Given the description of an element on the screen output the (x, y) to click on. 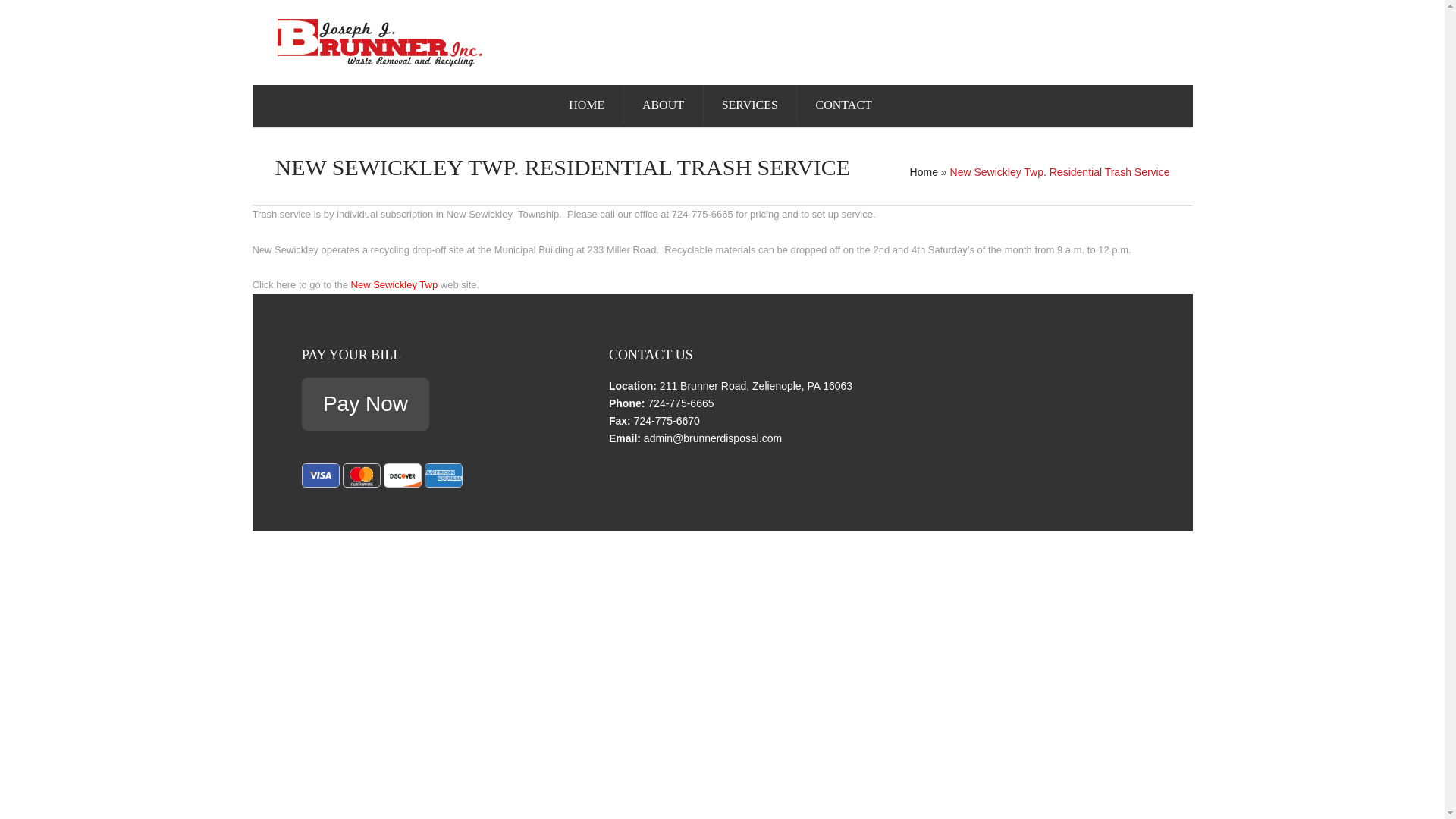
CONTACT (843, 104)
ABOUT (663, 104)
Home (923, 172)
New Sewickley Twp (394, 284)
HOME (586, 104)
SERVICES (749, 104)
Pay Now (365, 403)
